Given the description of an element on the screen output the (x, y) to click on. 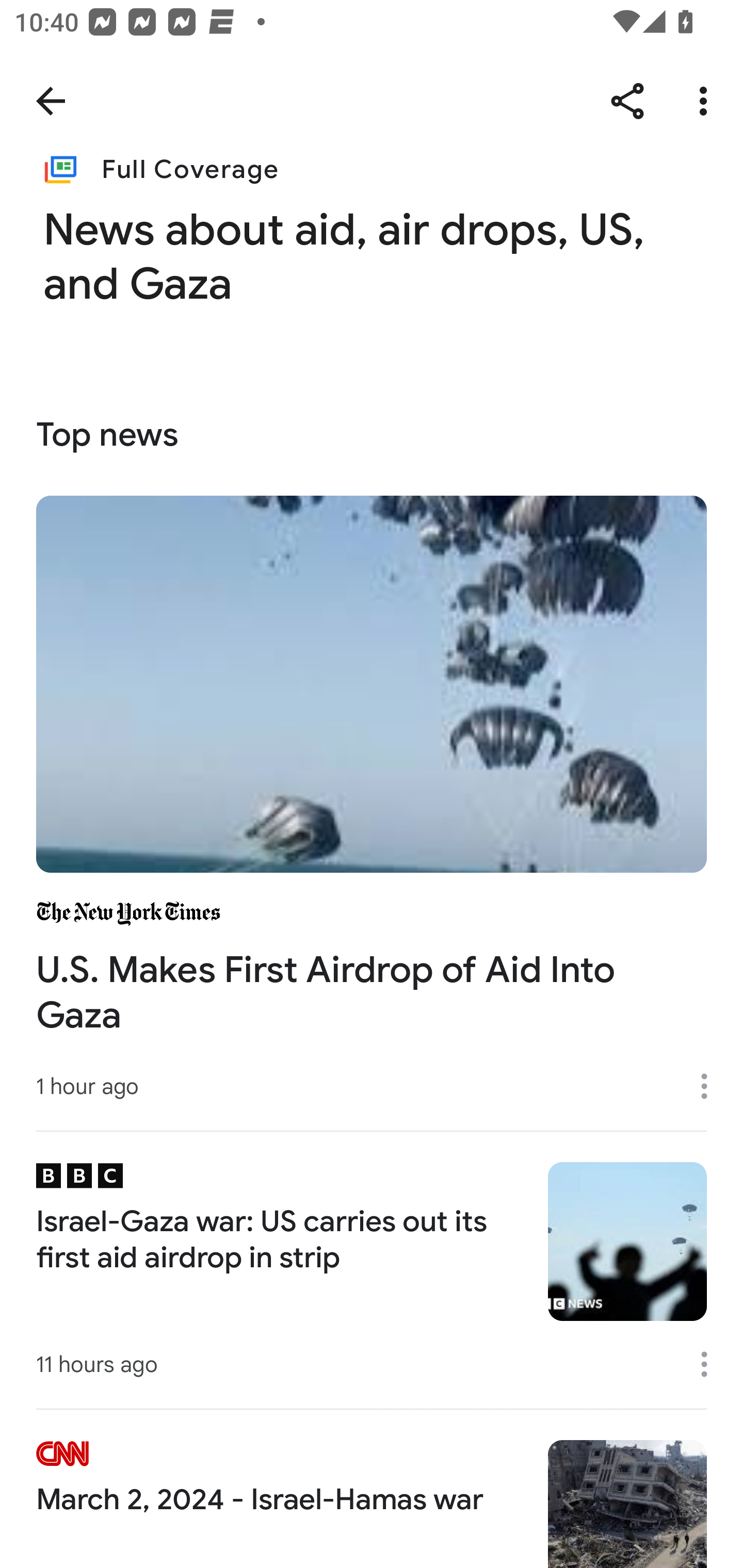
Navigate up (50, 101)
Share (626, 101)
More options (706, 101)
More options (711, 1085)
More options (711, 1364)
CNN March 2, 2024 - Israel-Hamas war (371, 1488)
